Given the description of an element on the screen output the (x, y) to click on. 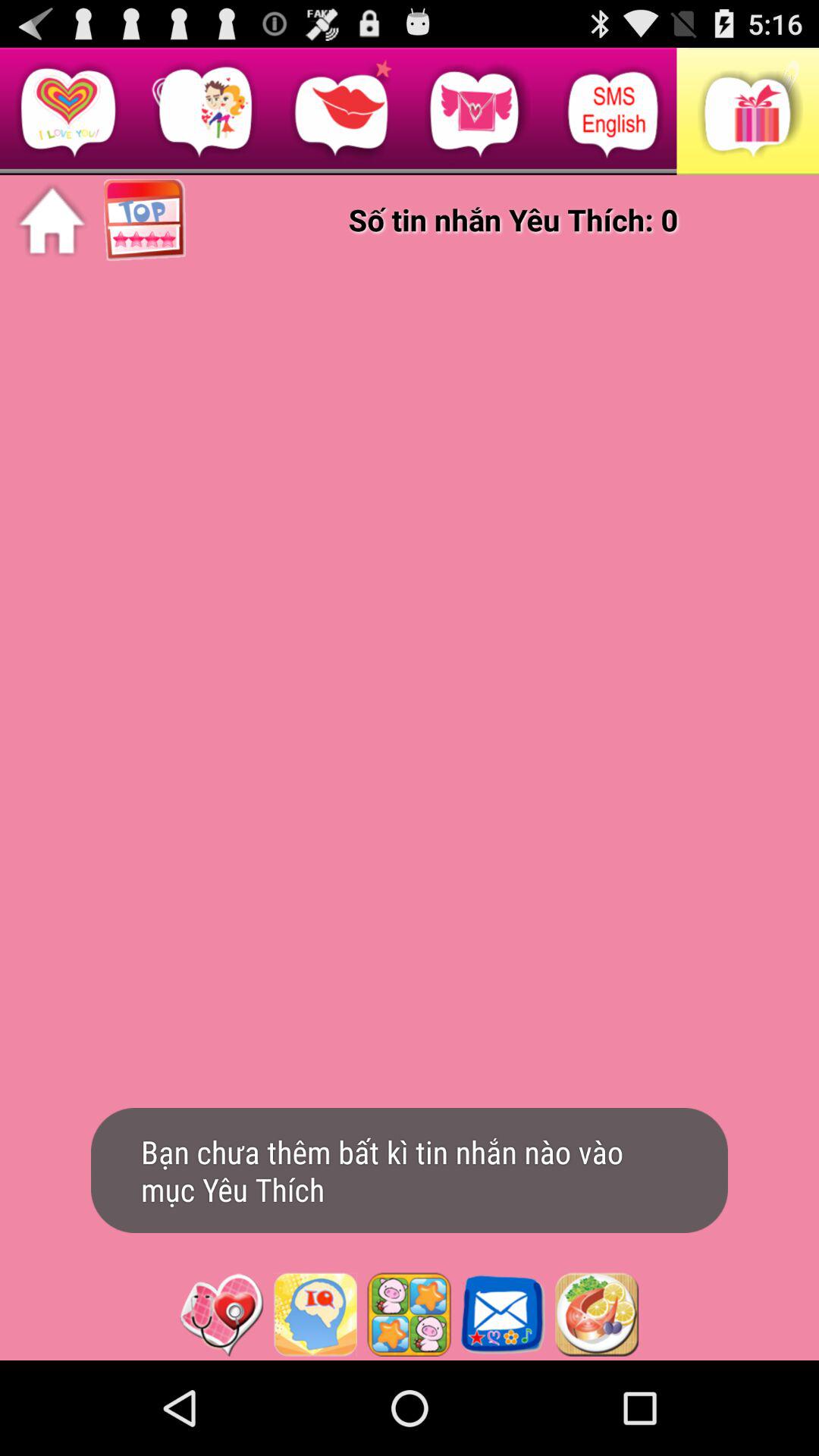
go to home page (51, 220)
